Given the description of an element on the screen output the (x, y) to click on. 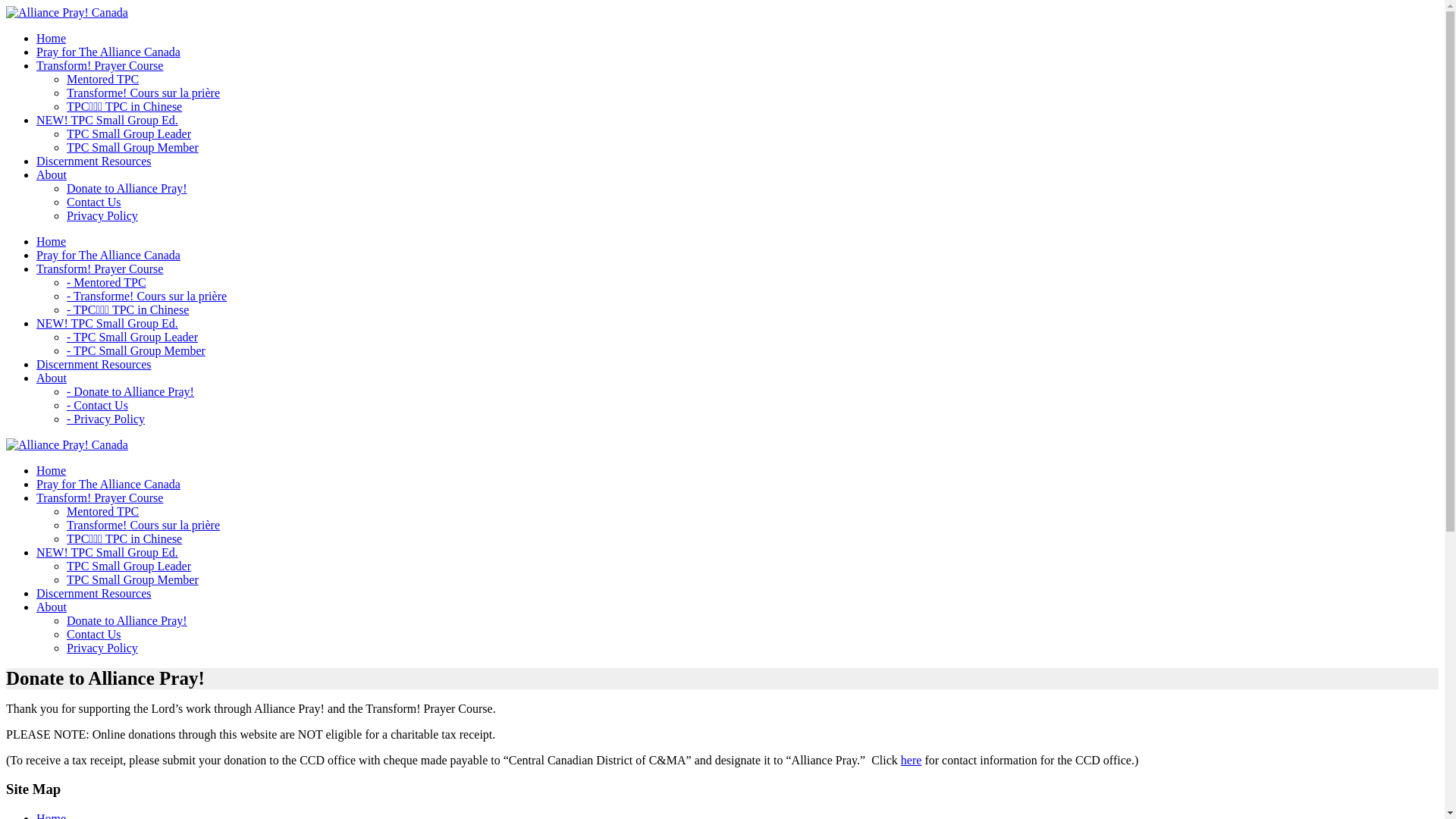
Mentored TPC Element type: text (102, 78)
NEW! TPC Small Group Ed. Element type: text (107, 552)
- TPC Small Group Leader Element type: text (131, 336)
Home Element type: text (50, 241)
Donate to Alliance Pray! Element type: text (126, 188)
Pray for The Alliance Canada Element type: text (108, 254)
TPC Small Group Member Element type: text (132, 147)
NEW! TPC Small Group Ed. Element type: text (107, 119)
About Element type: text (51, 377)
Transform! Prayer Course Element type: text (99, 497)
- Contact Us Element type: text (97, 404)
TPC Small Group Leader Element type: text (128, 133)
Contact Us Element type: text (93, 201)
Discernment Resources Element type: text (93, 160)
TPC Small Group Leader Element type: text (128, 565)
About Element type: text (51, 606)
Mentored TPC Element type: text (102, 511)
Home Element type: text (50, 37)
Skip to content Element type: text (5, 5)
NEW! TPC Small Group Ed. Element type: text (107, 322)
Transform! Prayer Course Element type: text (99, 268)
Pray for The Alliance Canada Element type: text (108, 51)
Transform! Prayer Course Element type: text (99, 65)
TPC Small Group Member Element type: text (132, 579)
Privacy Policy Element type: text (102, 215)
Home Element type: text (50, 470)
Pray for The Alliance Canada Element type: text (108, 483)
Discernment Resources Element type: text (93, 592)
Donate to Alliance Pray! Element type: text (126, 620)
here Element type: text (911, 759)
- Mentored TPC Element type: text (106, 282)
- TPC Small Group Member Element type: text (135, 350)
Contact Us Element type: text (93, 633)
- Privacy Policy Element type: text (105, 418)
About Element type: text (51, 174)
Discernment Resources Element type: text (93, 363)
Privacy Policy Element type: text (102, 647)
- Donate to Alliance Pray! Element type: text (130, 391)
